Given the description of an element on the screen output the (x, y) to click on. 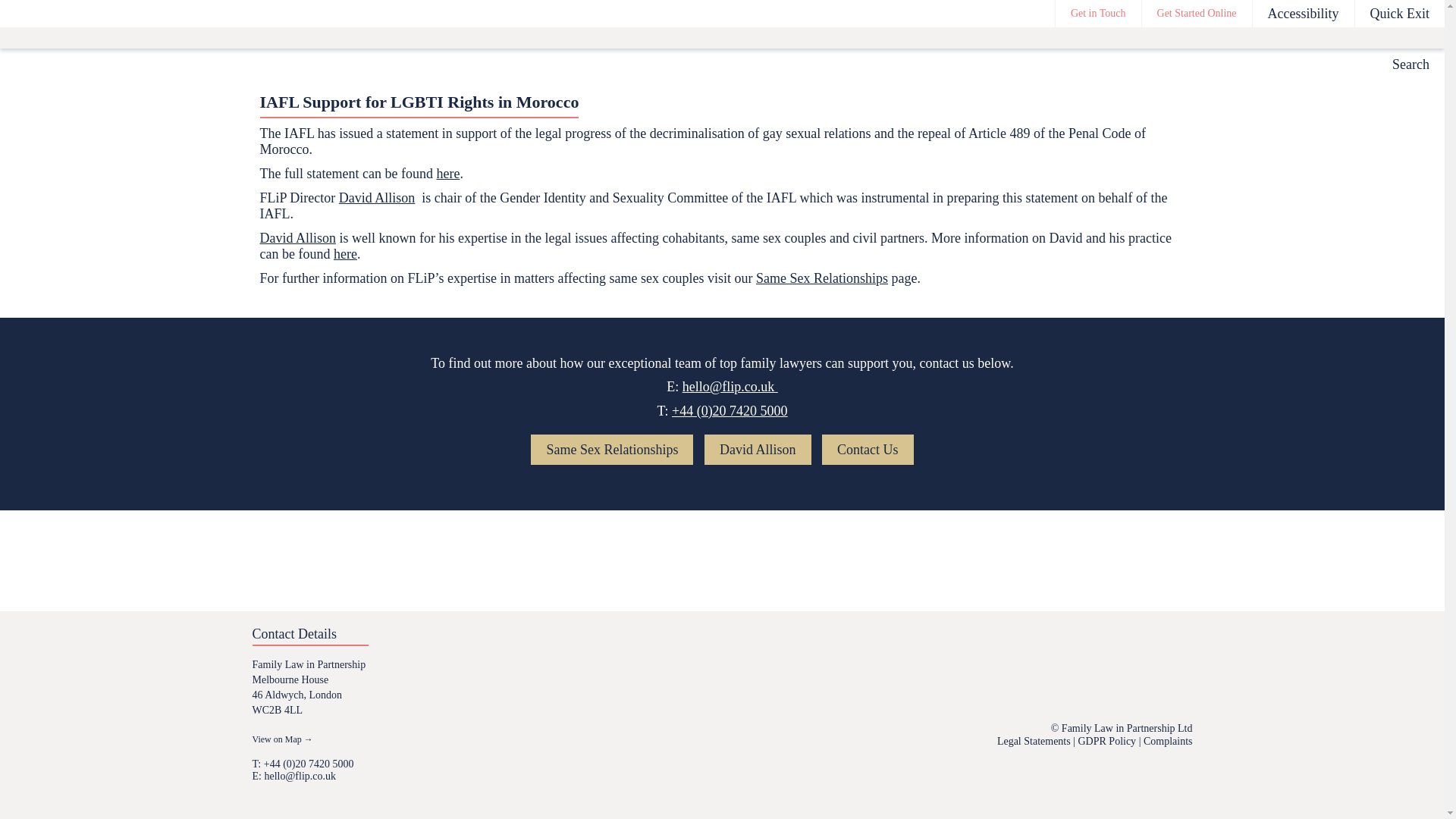
David Allison (757, 449)
GDPR Policy (1107, 740)
here (447, 173)
Get in Touch (1097, 13)
Complaints (1167, 740)
Legal Statements (1033, 740)
Get Started Online (1196, 13)
Contact Us (868, 449)
David Allison (297, 237)
David Allison (376, 197)
